Given the description of an element on the screen output the (x, y) to click on. 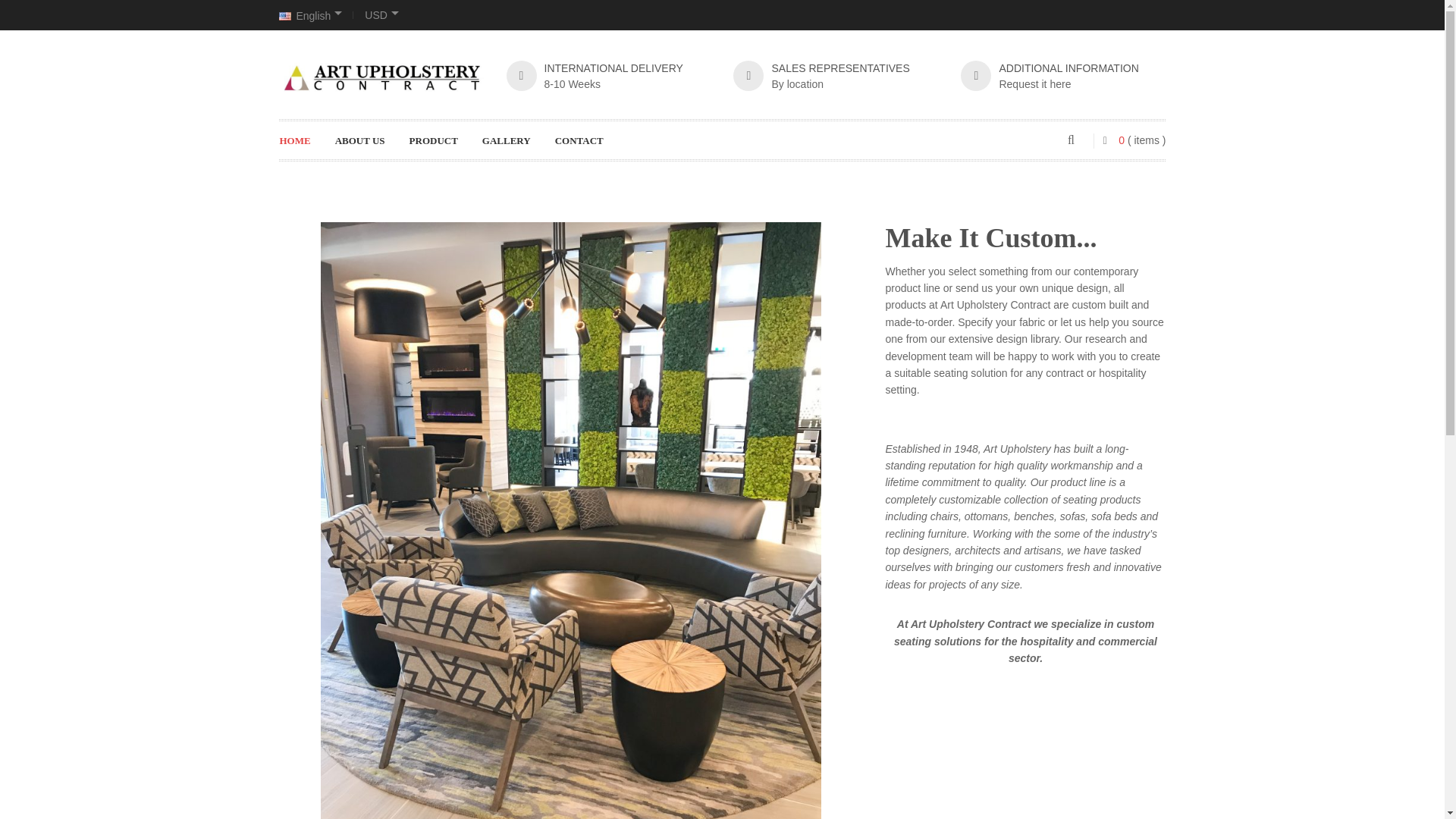
CONTACT (587, 140)
HOME (302, 140)
PRODUCT (441, 140)
View my shopping cart (1127, 139)
INTERNATIONAL DELIVERY (613, 68)
ADDITIONAL INFORMATION (1068, 68)
GALLERY (514, 140)
Art Upholstery Contract (381, 77)
ABOUT US (367, 140)
SALES REPRESENTATIVES (839, 68)
